Given the description of an element on the screen output the (x, y) to click on. 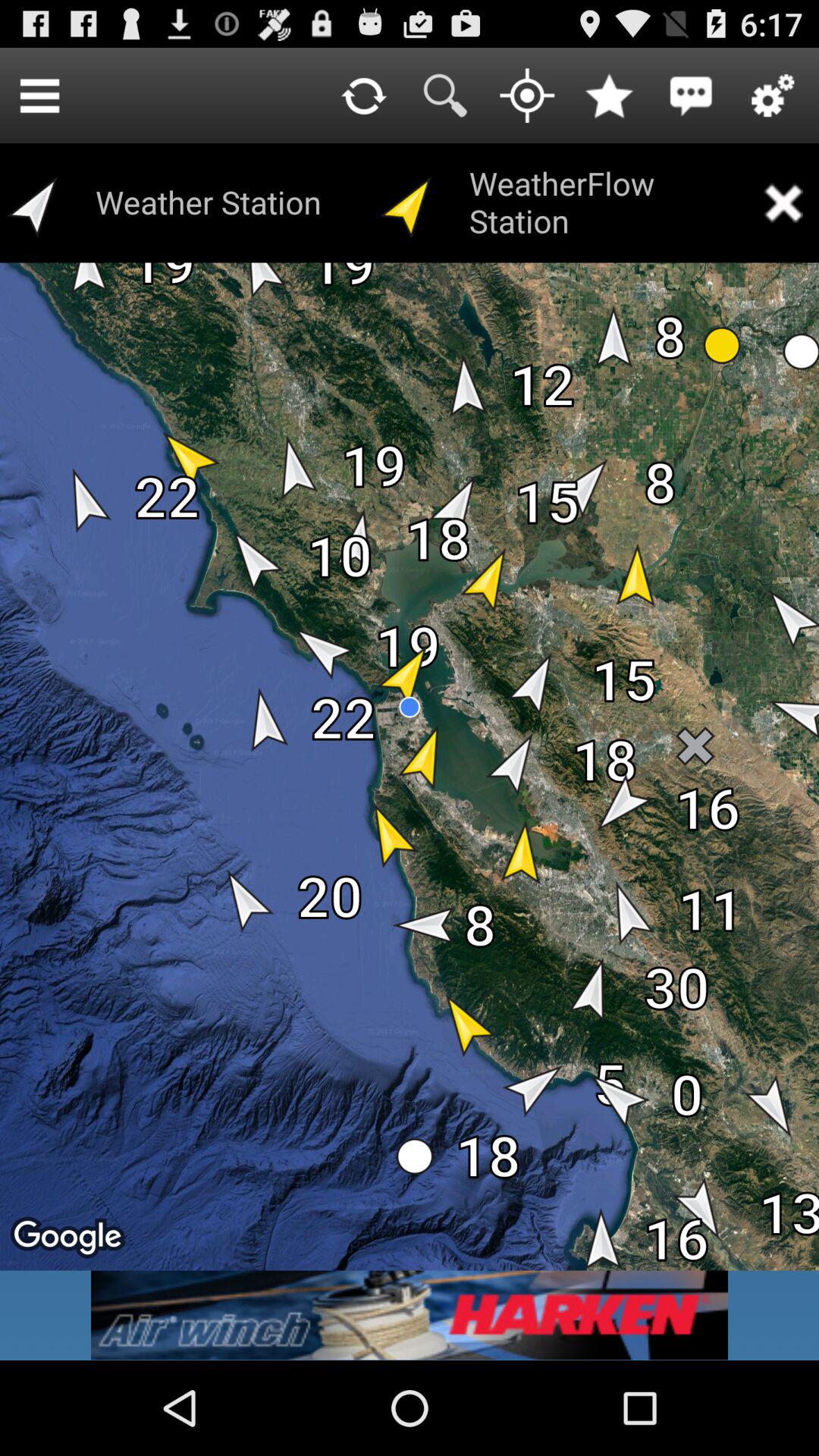
visit the advertiser 's website (409, 1314)
